Given the description of an element on the screen output the (x, y) to click on. 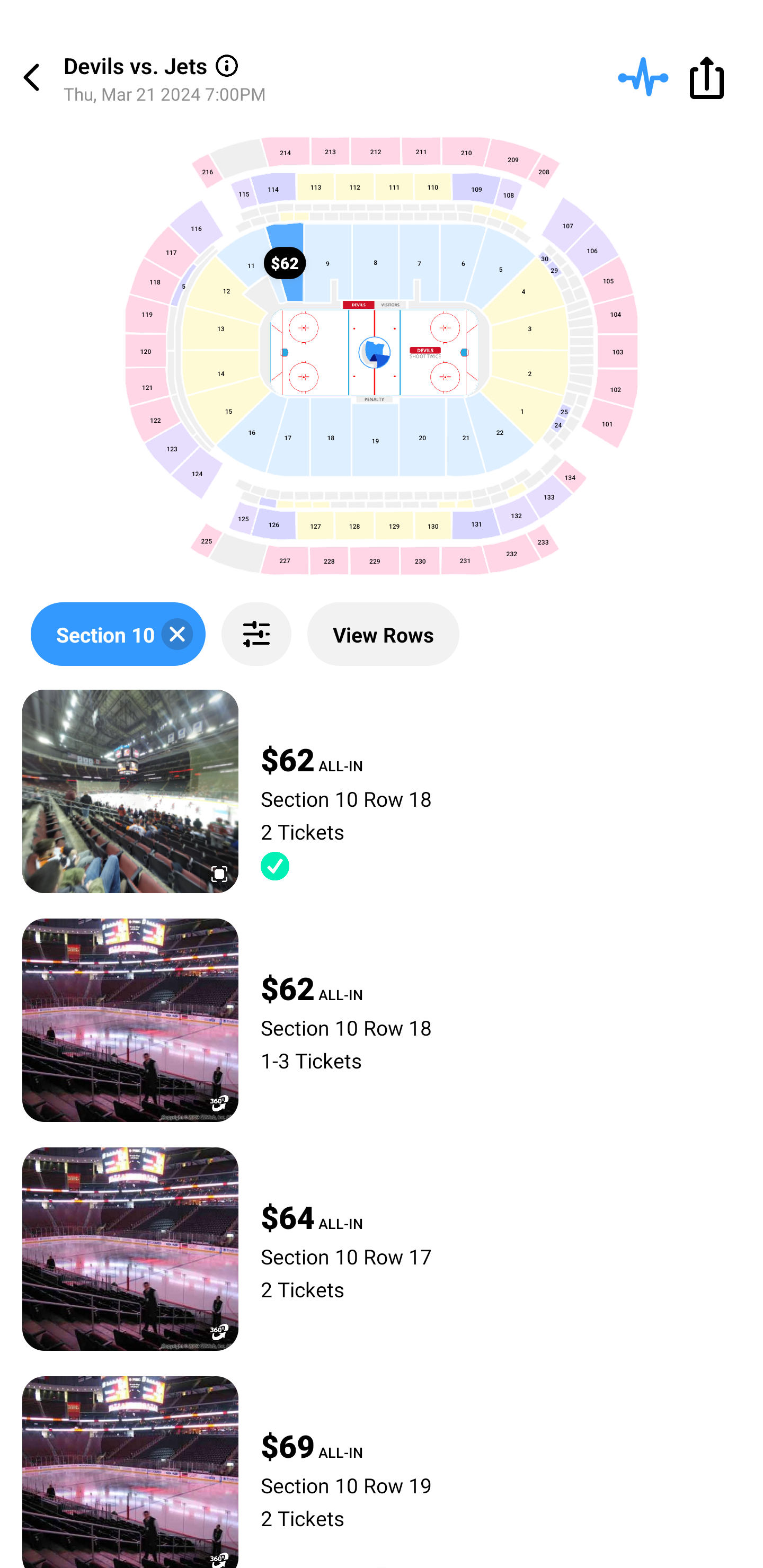
$62 (284, 262)
Section 10 (117, 634)
View Rows (383, 634)
